Given the description of an element on the screen output the (x, y) to click on. 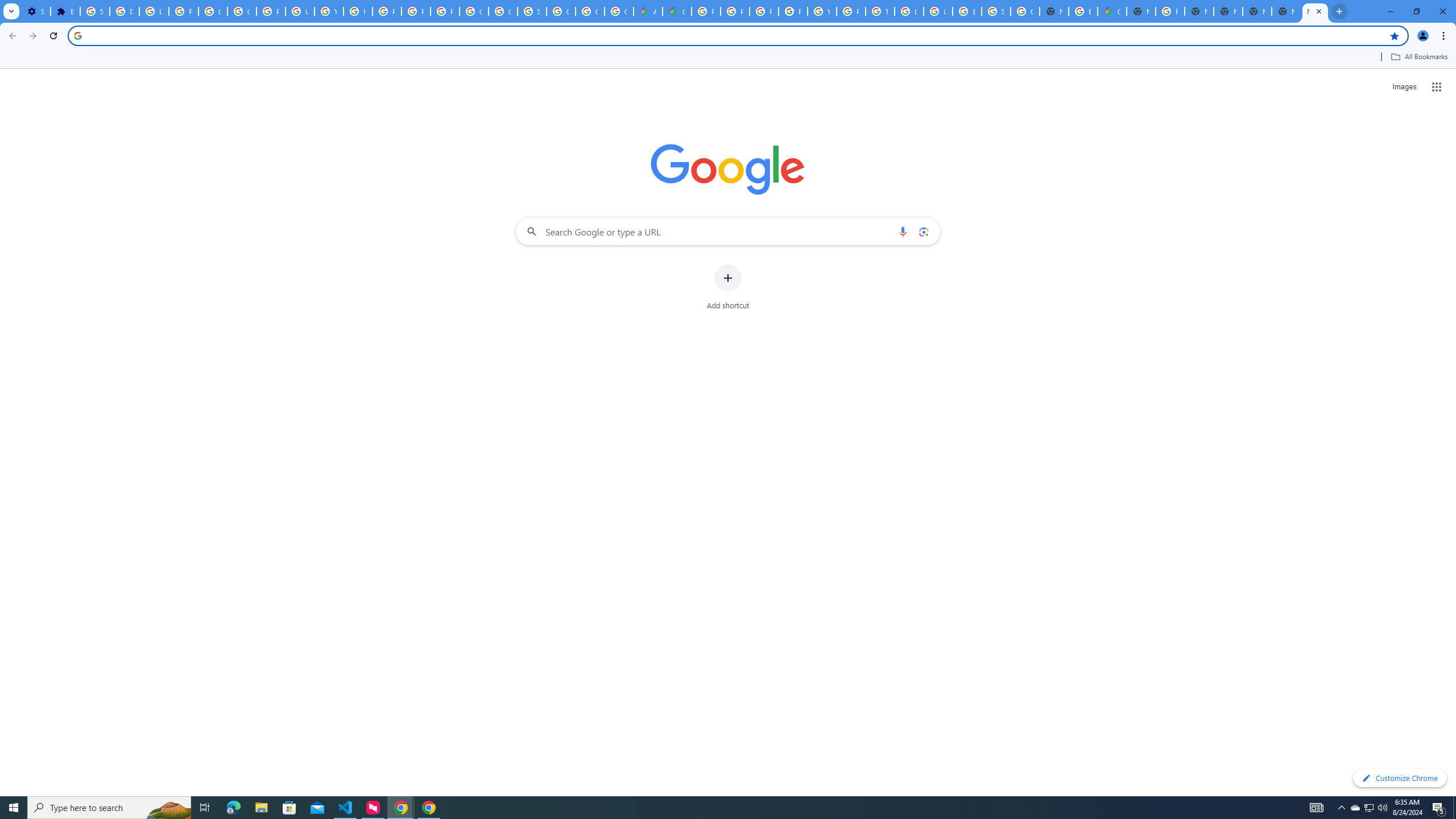
https://scholar.google.com/ (357, 11)
Extensions (65, 11)
Sign in - Google Accounts (996, 11)
All Bookmarks (1418, 56)
Search for Images  (1403, 87)
New Tab (1140, 11)
Google Maps (1111, 11)
Add shortcut (727, 287)
